Given the description of an element on the screen output the (x, y) to click on. 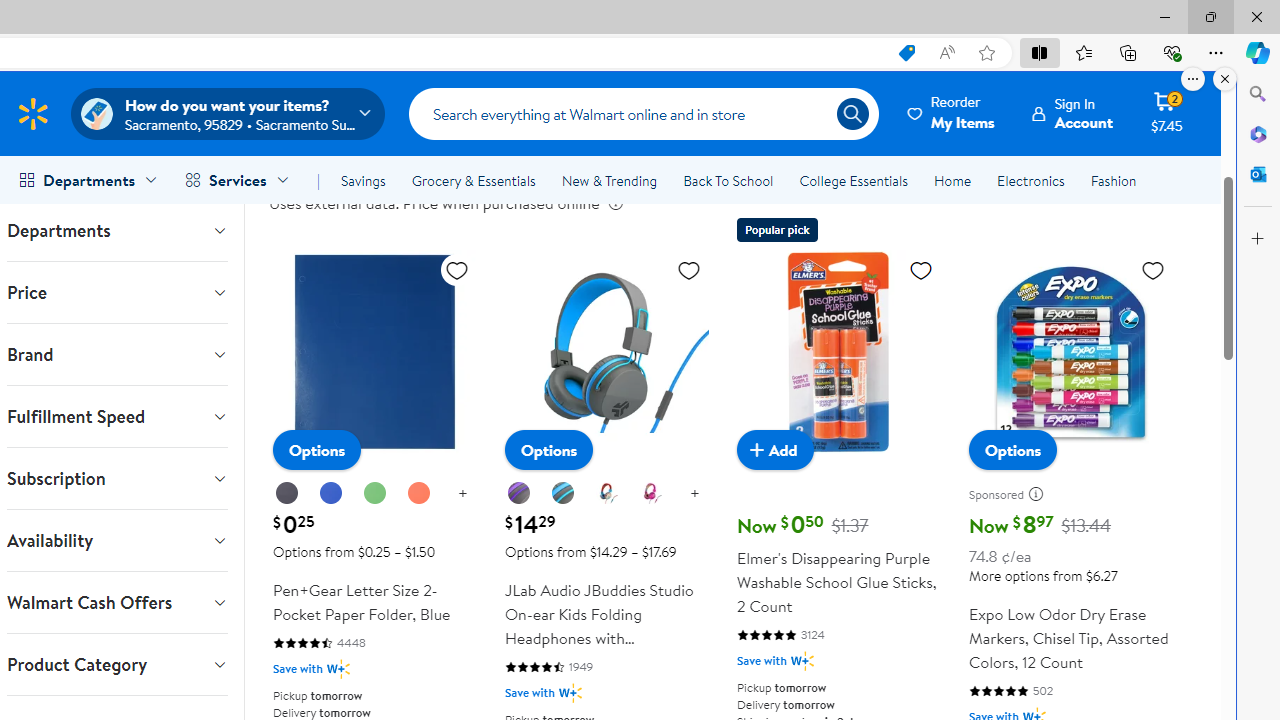
Read aloud this page (Ctrl+Shift+U) (946, 53)
Browser essentials (1171, 52)
Electronics (1030, 180)
Close split screen. (1225, 79)
New & Trending (608, 180)
College Essentials (852, 180)
Next slide for chipModuleWithImages list (1180, 52)
Savings (363, 180)
Blue (330, 493)
Settings and more (Alt+F) (1215, 52)
Minimize (1164, 16)
Fashion (1113, 180)
